Given the description of an element on the screen output the (x, y) to click on. 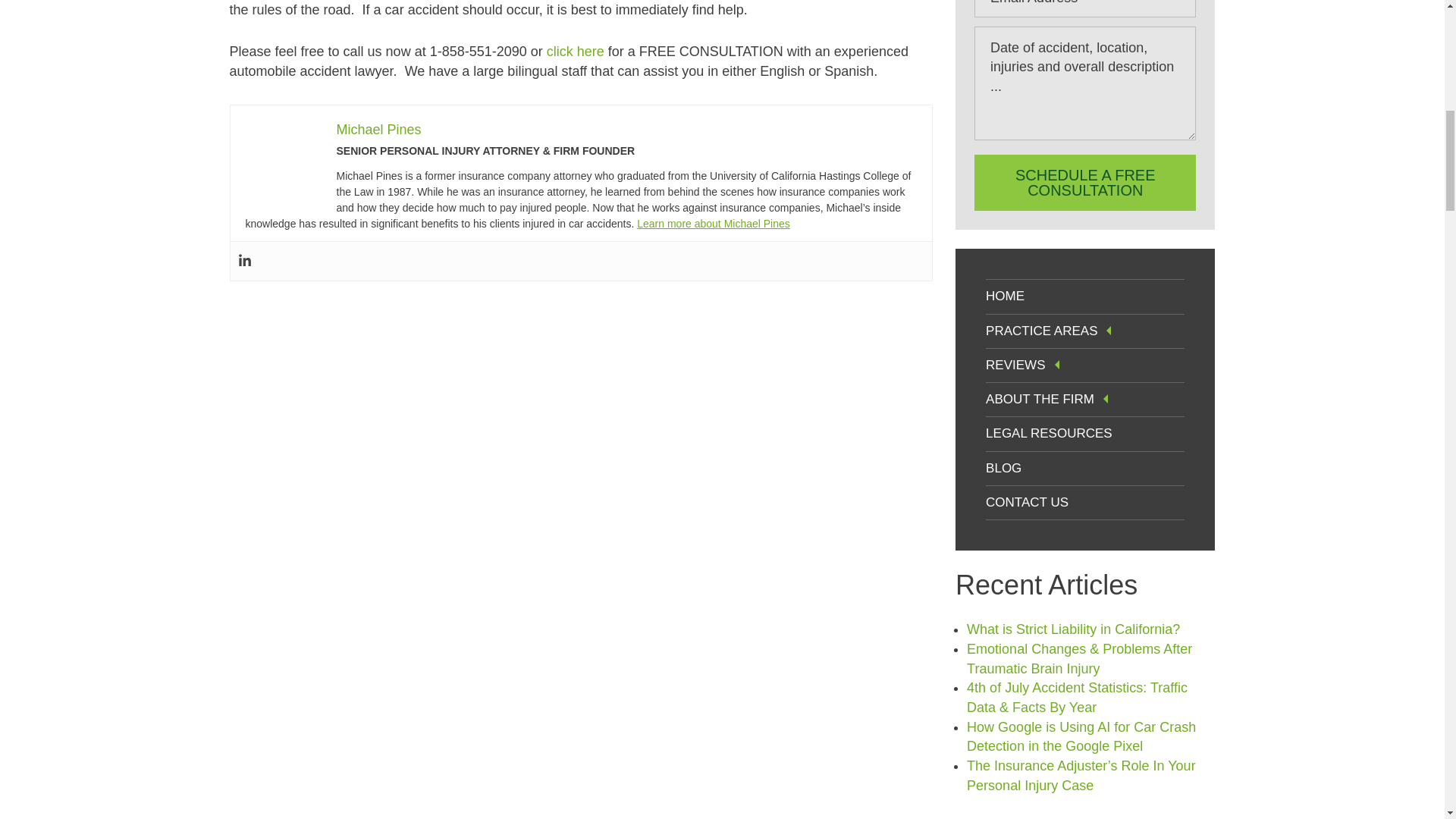
Schedule a Free Consultation (1084, 182)
